Given the description of an element on the screen output the (x, y) to click on. 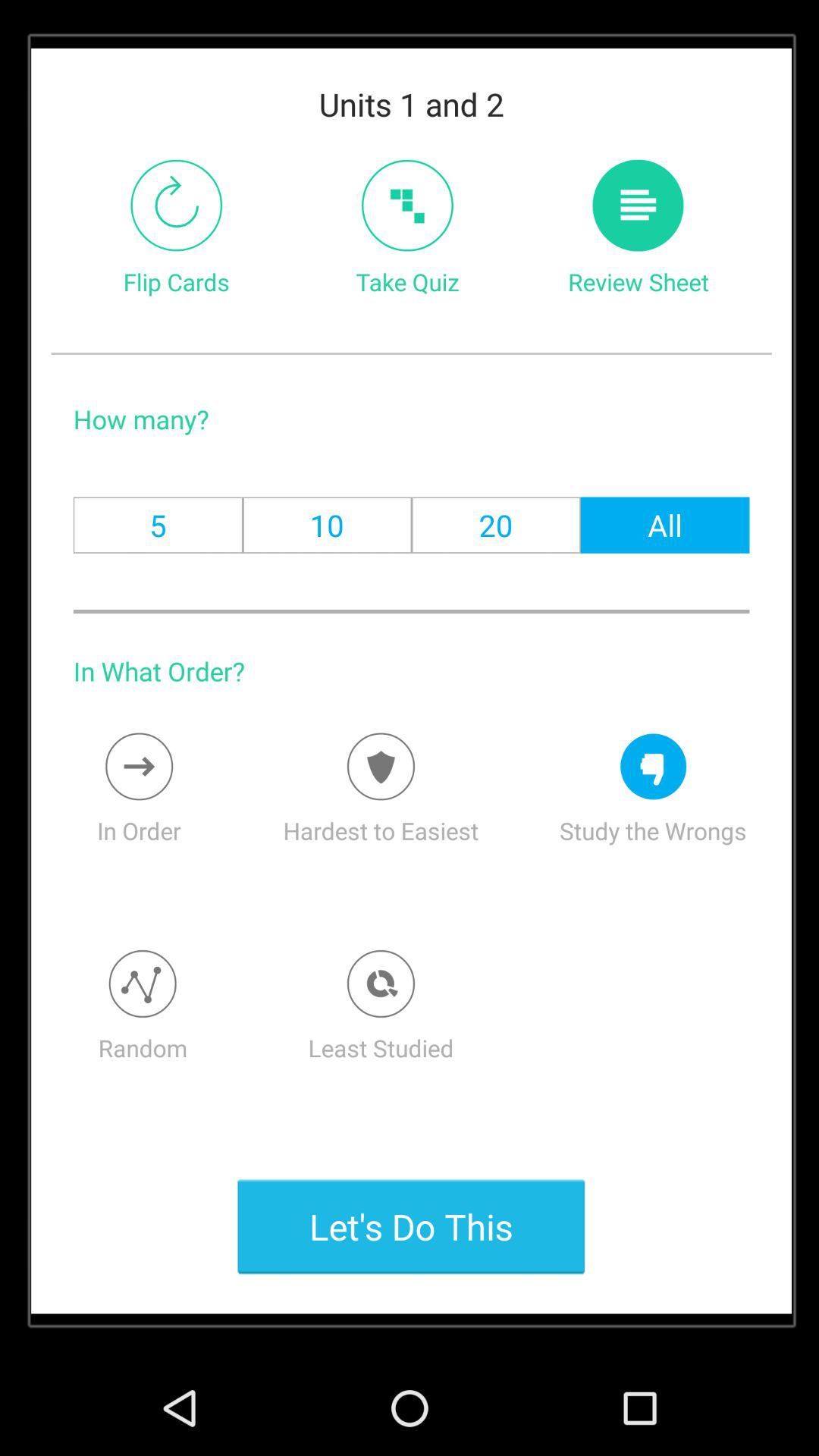
press the icon to the left of the 20 item (326, 525)
